Given the description of an element on the screen output the (x, y) to click on. 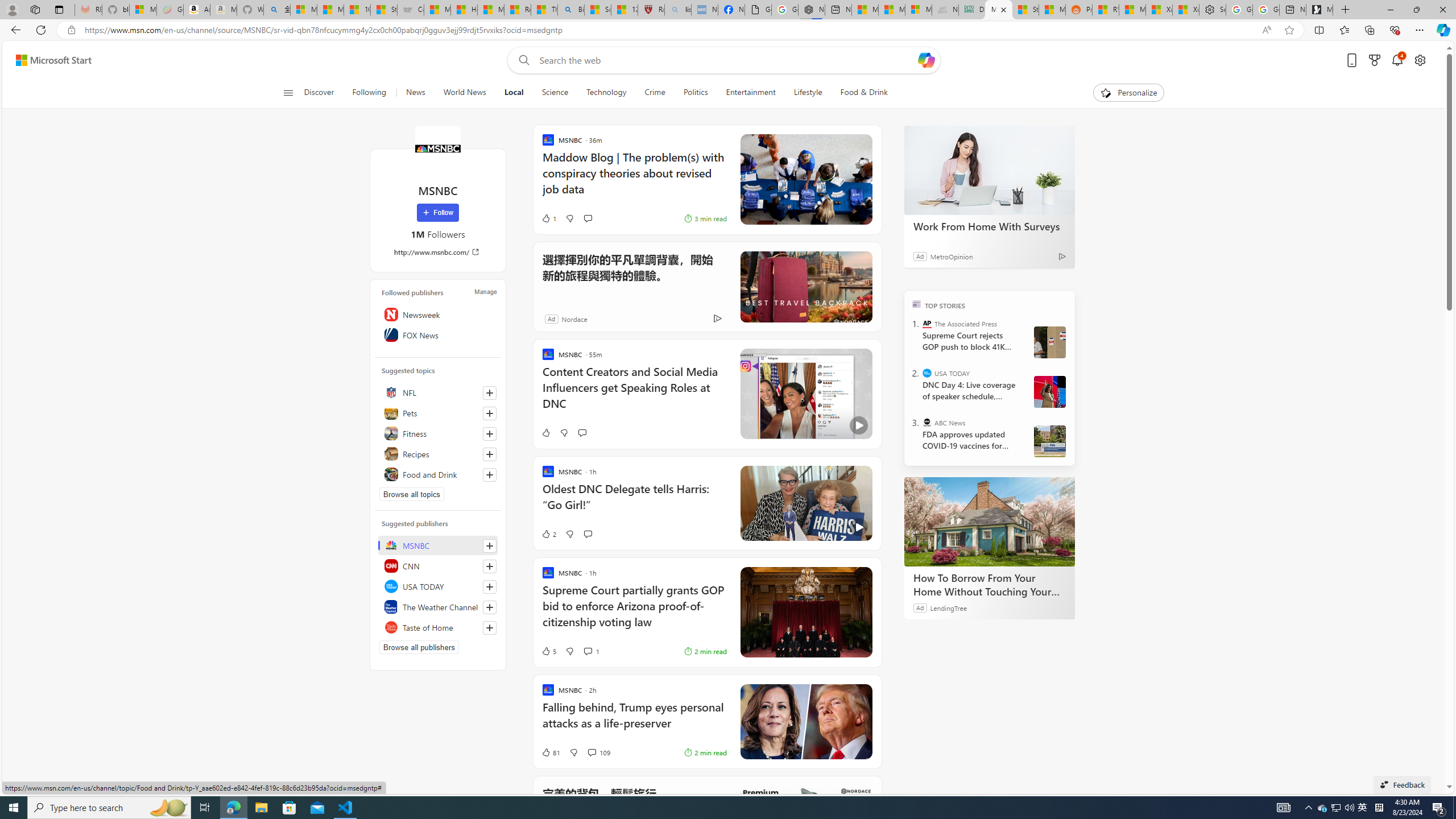
12 Popular Science Lies that Must be Corrected (623, 9)
Newsweek (437, 314)
Taste of Home (437, 627)
